Given the description of an element on the screen output the (x, y) to click on. 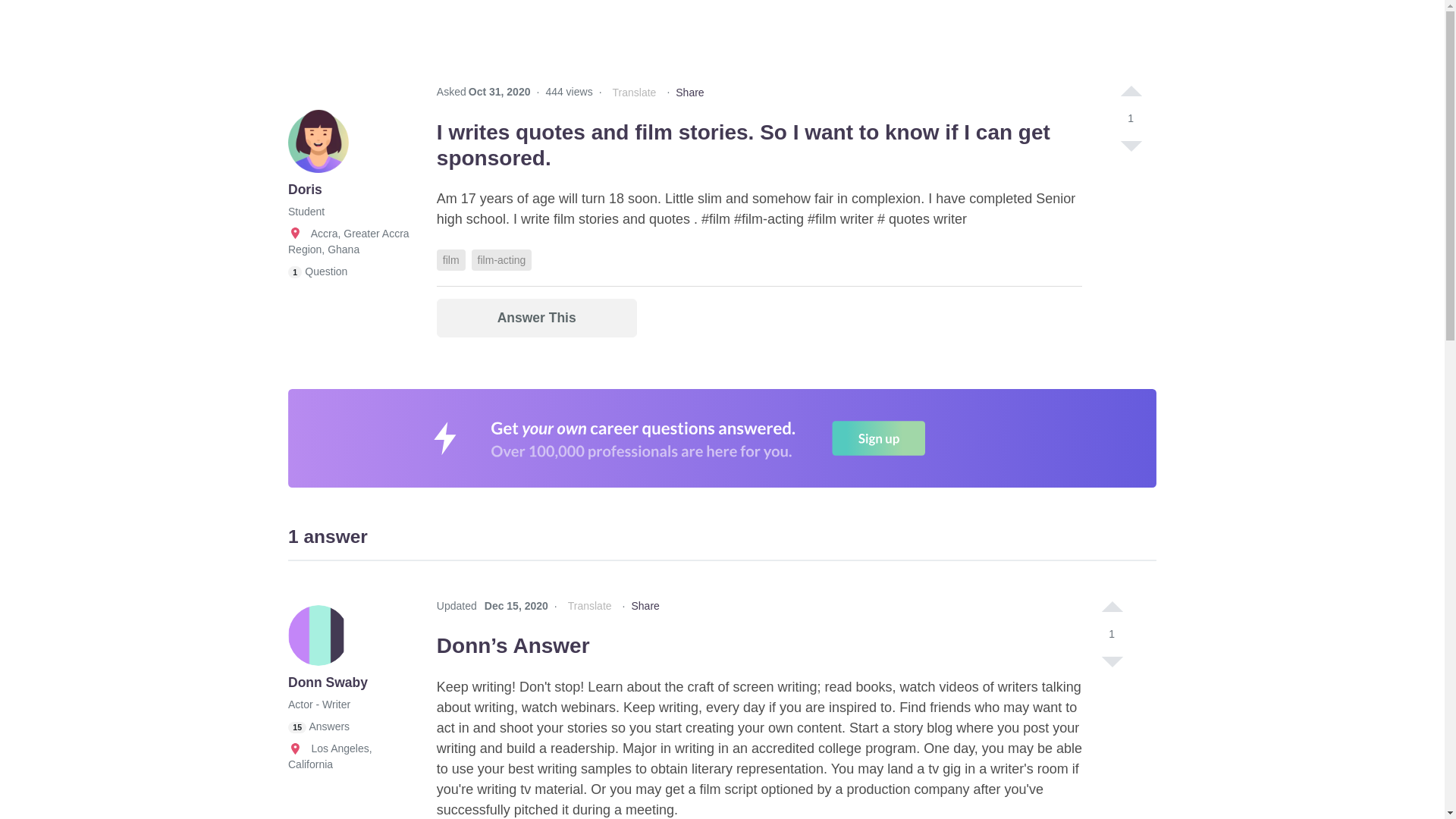
film (450, 260)
Answer This (536, 317)
film-acting (501, 260)
Translate (634, 92)
Share (689, 92)
